Given the description of an element on the screen output the (x, y) to click on. 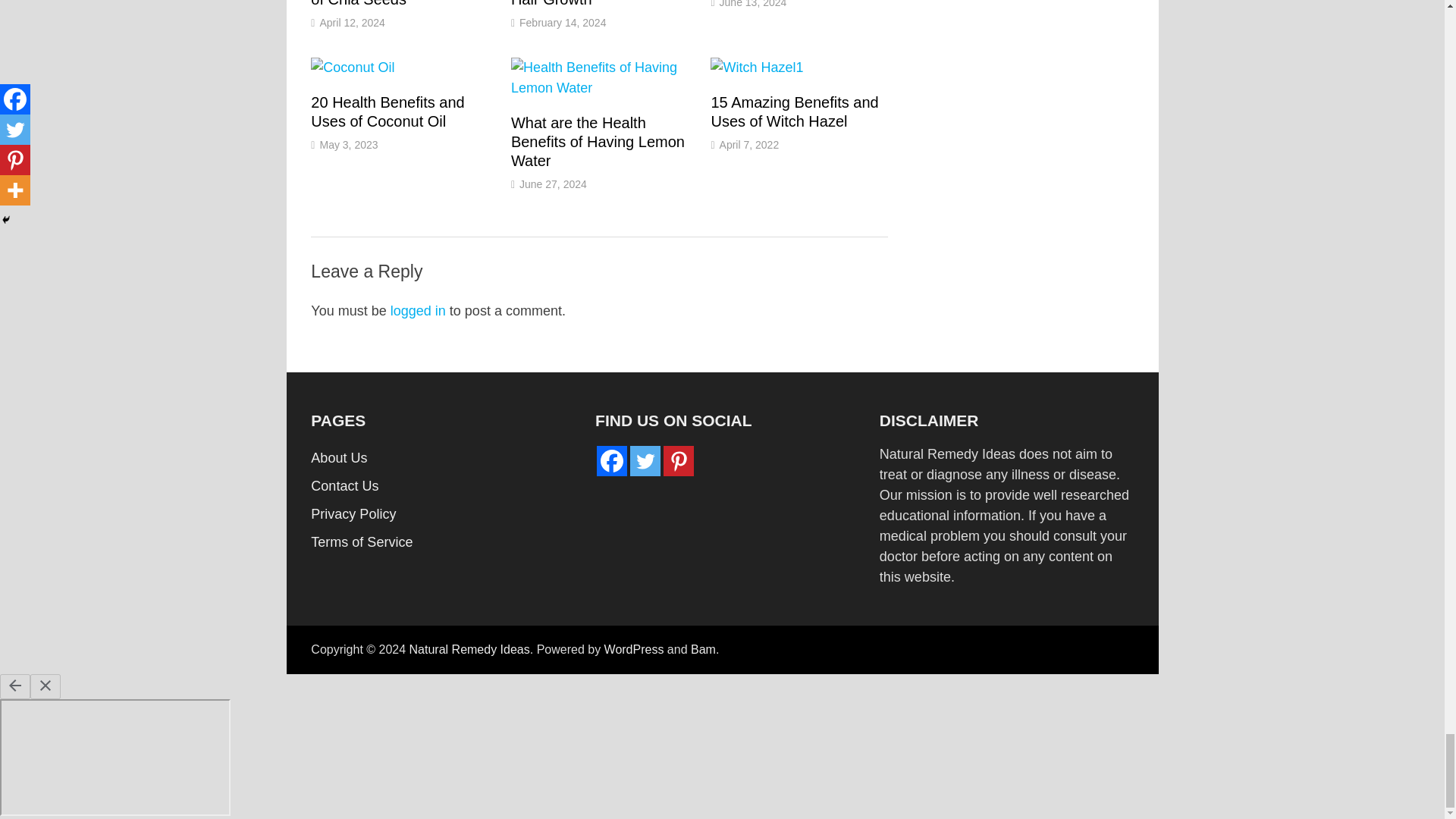
May 3, 2023 (347, 144)
February 14, 2024 (562, 22)
20 Health Benefits and Uses of Coconut Oil (387, 111)
20 Health Benefits and Uses of Coconut Oil (387, 111)
June 13, 2024 (753, 4)
18 Best Foods for Healthy Hair Growth (598, 3)
15 Amazing Benefits and Uses of Witch Hazel (793, 111)
What are the Health Benefits of Having Lemon Water (597, 141)
15 Amazing Benefits and Uses of Witch Hazel (793, 111)
June 27, 2024 (552, 184)
What are the Health Benefits of Having Lemon Water (597, 141)
April 12, 2024 (351, 22)
18 Proven Health Benefits of Chia Seeds (398, 3)
18 Best Foods for Healthy Hair Growth (598, 3)
18 Proven Health Benefits of Chia Seeds (398, 3)
